Given the description of an element on the screen output the (x, y) to click on. 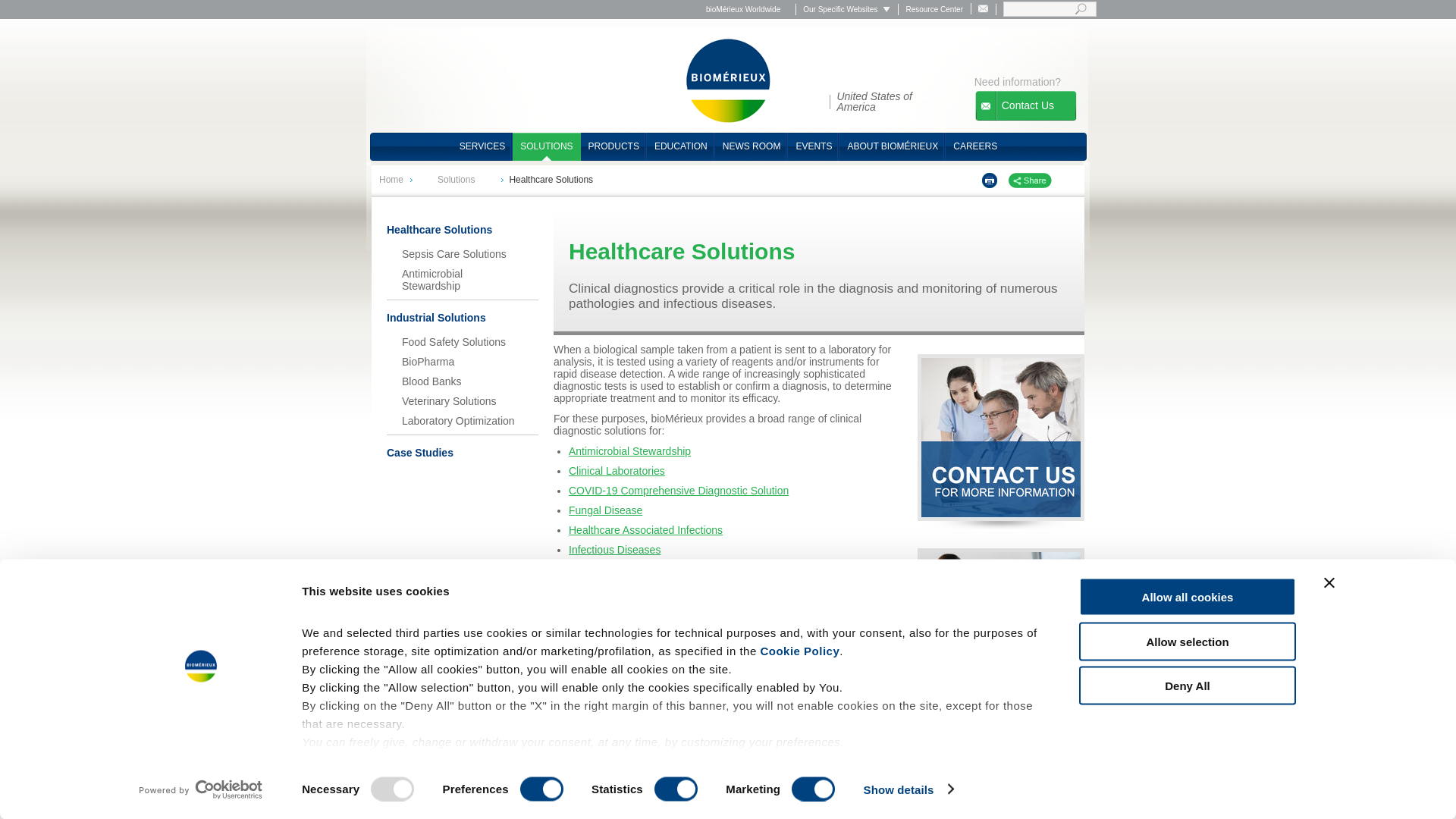
Home (727, 80)
Access Resource Center (933, 9)
Enter the terms you wish to search for. (1049, 8)
Show details (908, 789)
Cookie Policy (800, 650)
Search (1080, 9)
Printer-friendly version (989, 180)
Display a printer-friendly version of this page. (989, 179)
